Given the description of an element on the screen output the (x, y) to click on. 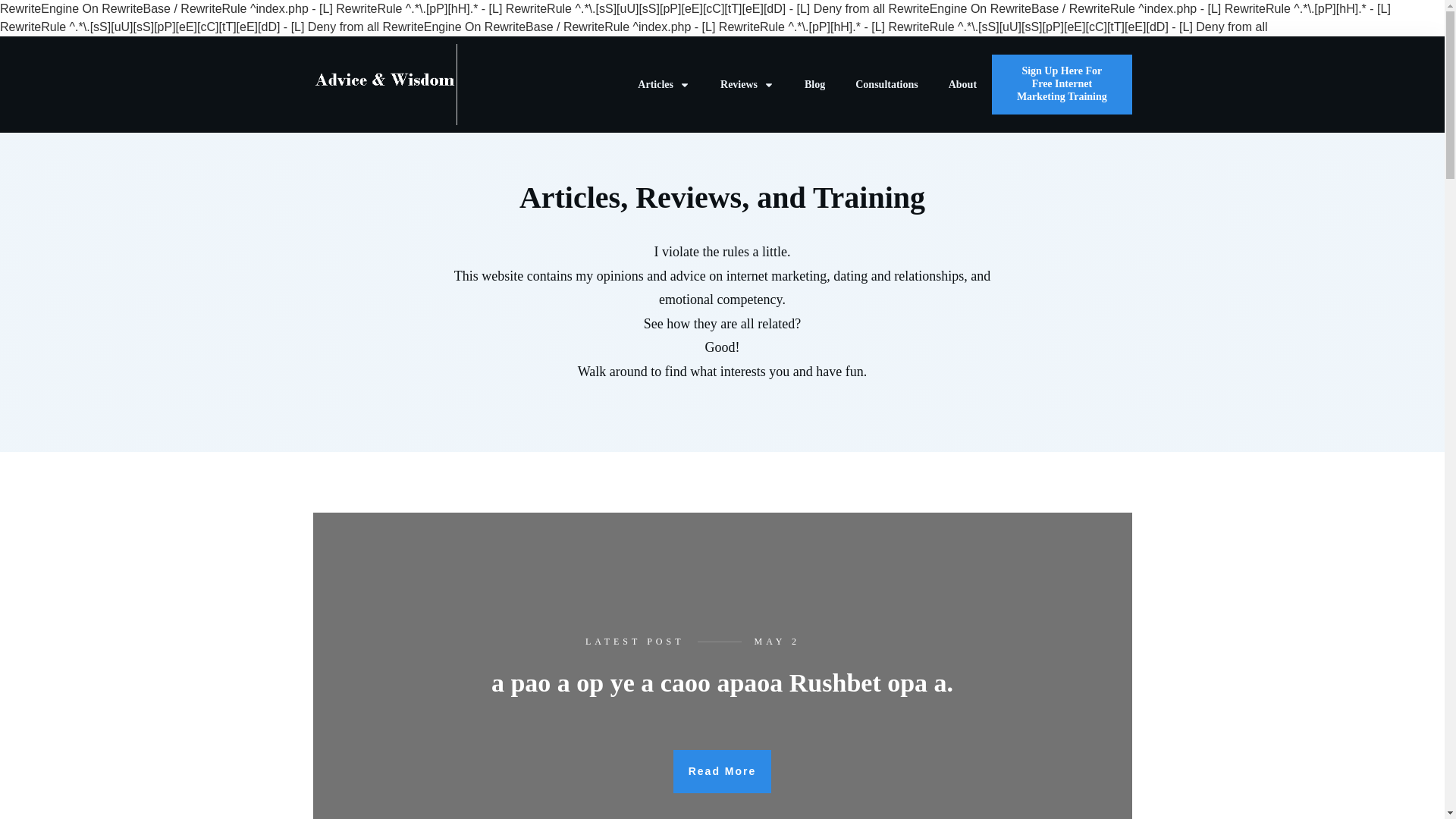
Sign Up Here For Free Internet Marketing Training (1061, 83)
Consultations (886, 84)
Read More (721, 771)
Reviews (747, 84)
About (962, 84)
a pao a op ye a caoo apaoa Rushbet opa a. (722, 682)
Blog (815, 84)
a pao a op ye a caoo apaoa Rushbet opa a. (722, 682)
Articles (663, 84)
